Given the description of an element on the screen output the (x, y) to click on. 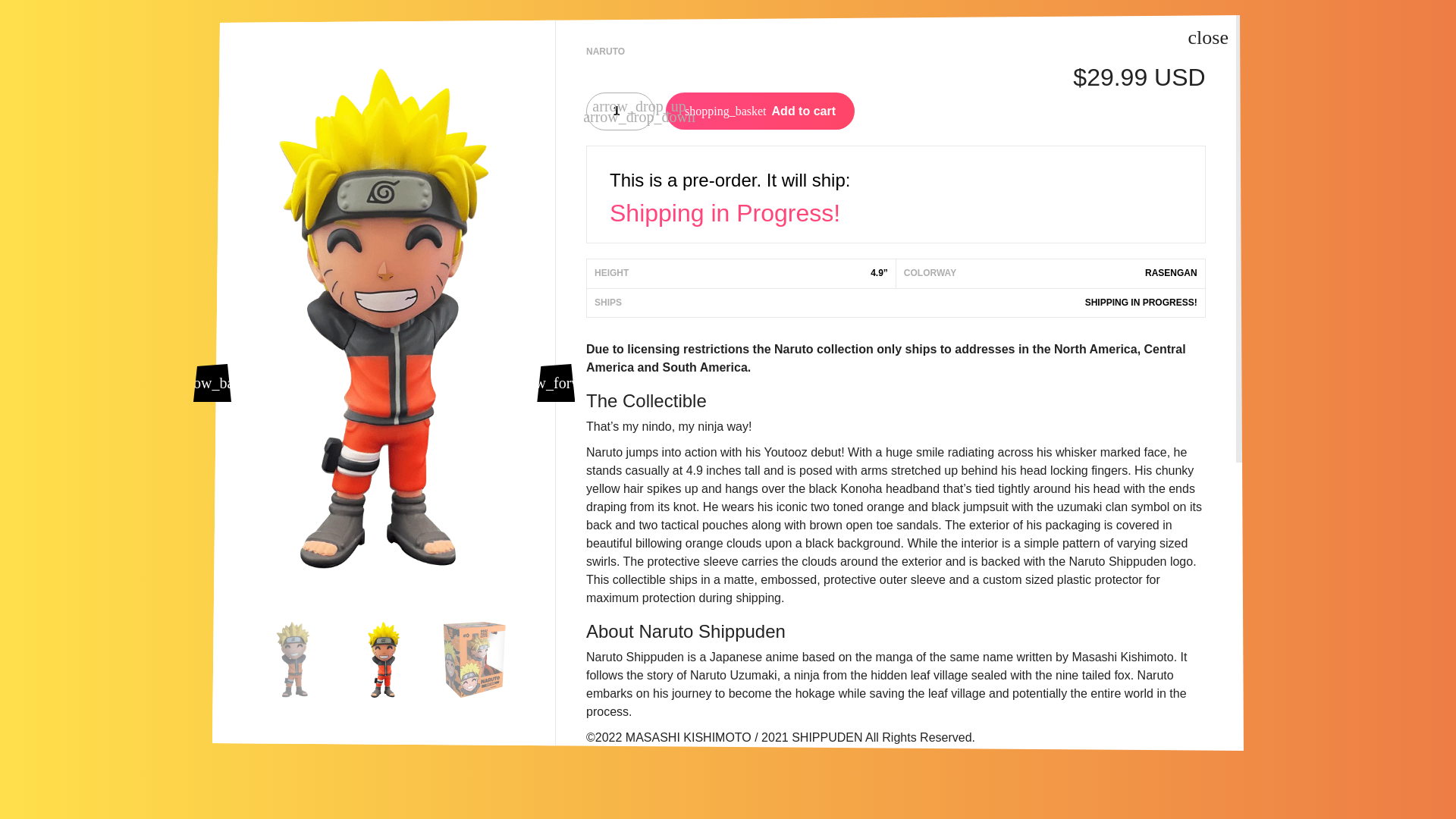
CONTACT US (948, 724)
Learn more (836, 762)
Youtooz on Instagram (380, 678)
1 (619, 111)
HOW IT'S MADE (954, 746)
Youtooz on Twitter (350, 678)
Add to cart (759, 110)
TERMS (932, 678)
About (932, 657)
Shipping Policy (692, 696)
Track My Order (692, 748)
shipping rates (740, 788)
Youtooz on Facebook (321, 678)
FAQ (924, 634)
FAQ (924, 634)
